Given the description of an element on the screen output the (x, y) to click on. 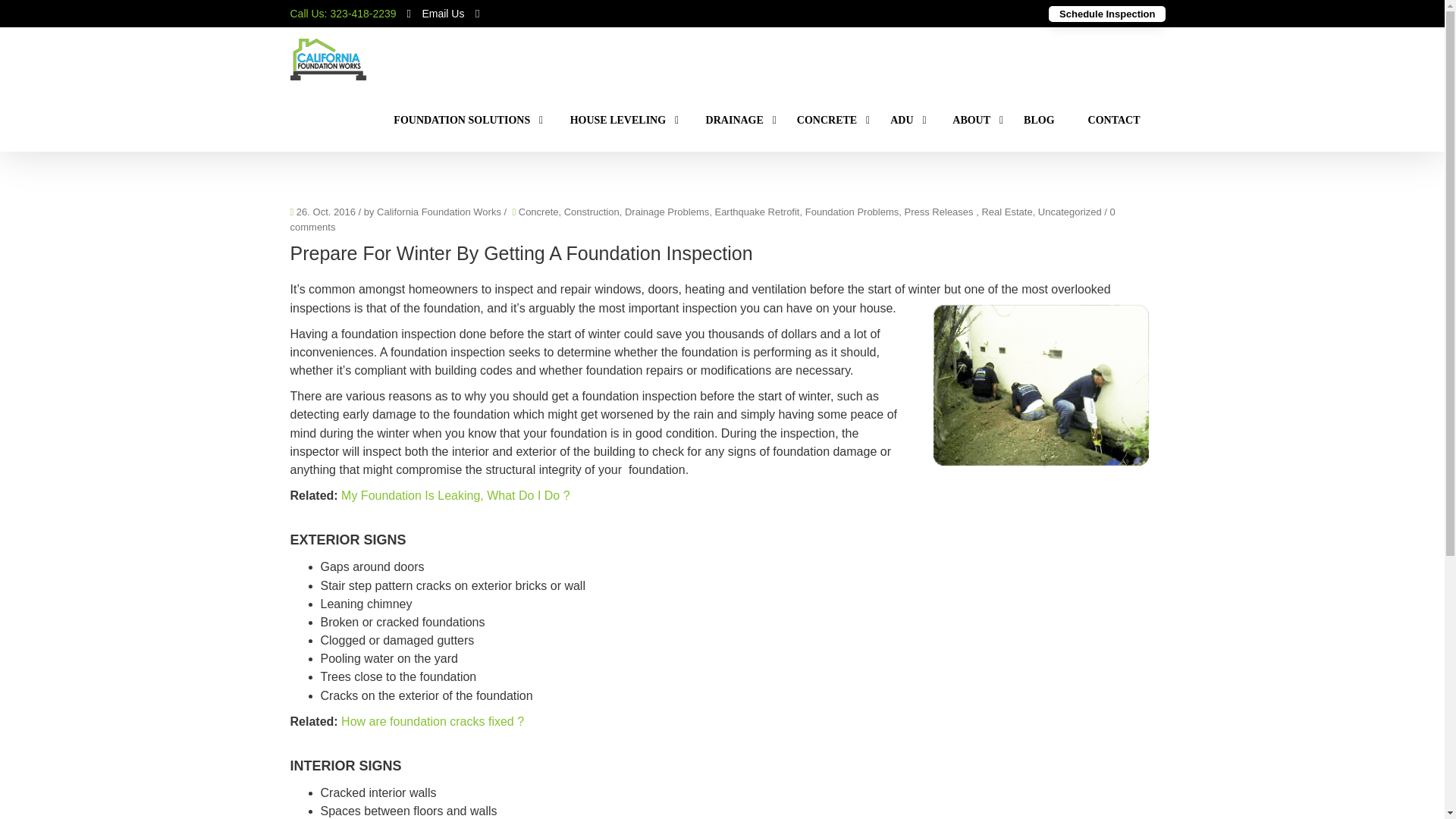
FOUNDATION SOLUTIONS (461, 119)
Foundation Solutions (461, 119)
Call Us: 323-418-2239 (342, 13)
Schedule Inspection (1107, 13)
Schedule an Inspection (1107, 13)
 Email Us  (443, 12)
